Given the description of an element on the screen output the (x, y) to click on. 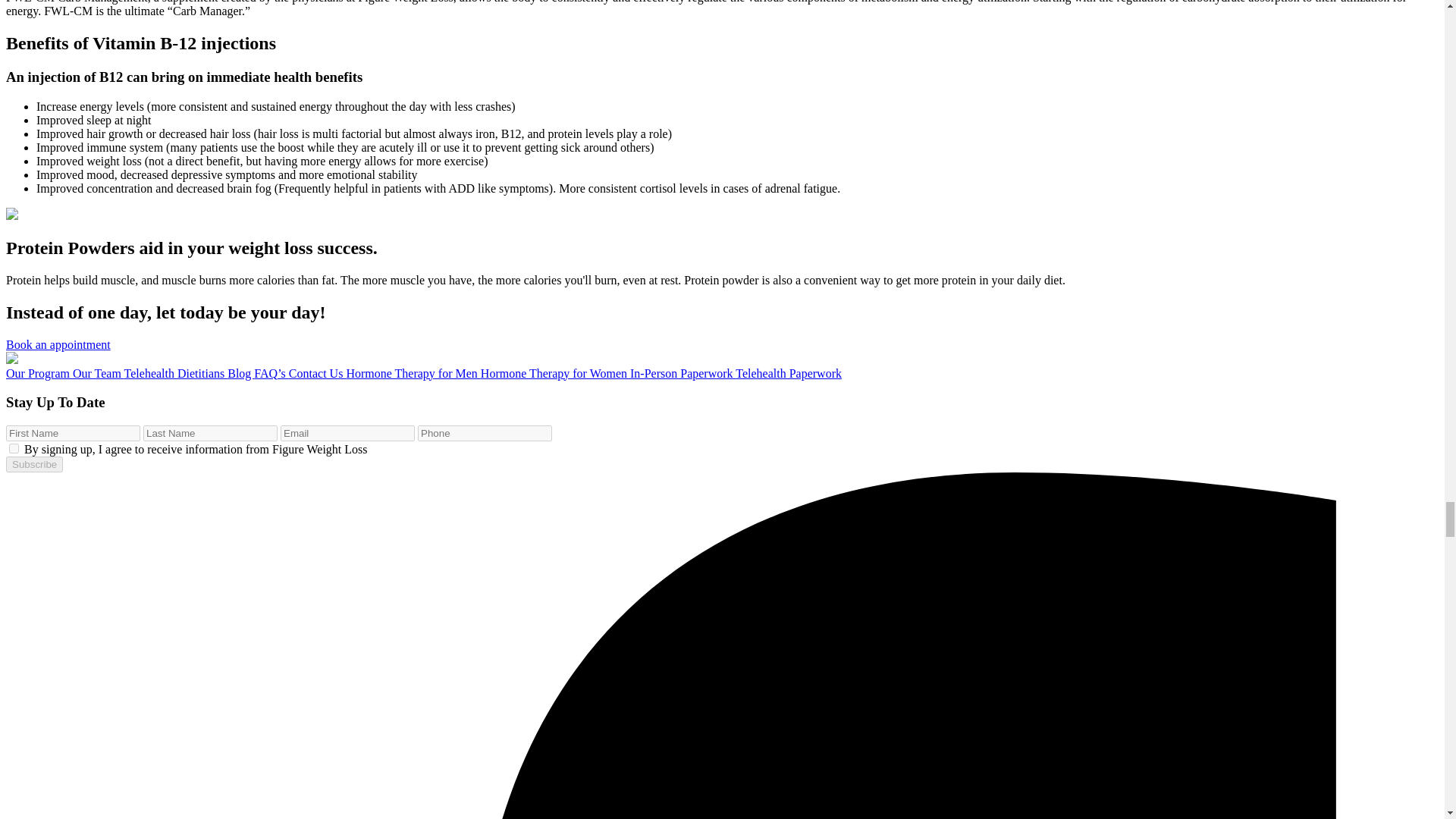
Telehealth (150, 373)
Blog (240, 373)
Hormone Therapy for Men (413, 373)
In-Person Paperwork (682, 373)
Dietitians (202, 373)
Telehealth Paperwork (788, 373)
Contact Us (317, 373)
Our Program (38, 373)
Subscribe (33, 464)
Hormone Therapy for Women (555, 373)
Our Team (97, 373)
on (13, 448)
Book an appointment (57, 344)
